Given the description of an element on the screen output the (x, y) to click on. 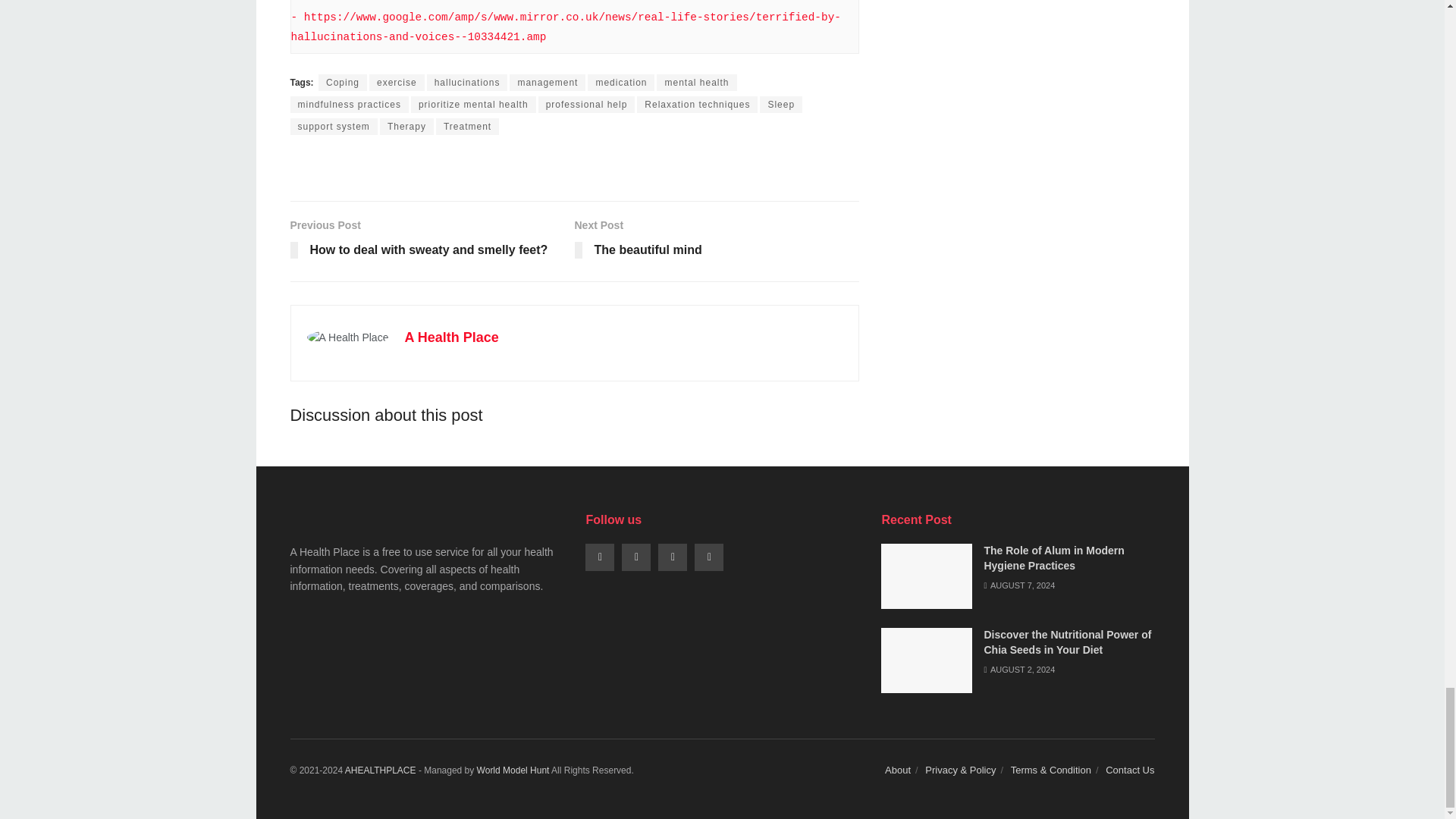
mindfulness practices (348, 104)
support system (333, 126)
mental health (696, 82)
Relaxation techniques (697, 104)
Sleep (781, 104)
management (547, 82)
hallucinations (467, 82)
professional help (586, 104)
World Model Hunt (513, 769)
Treatment (467, 126)
